Given the description of an element on the screen output the (x, y) to click on. 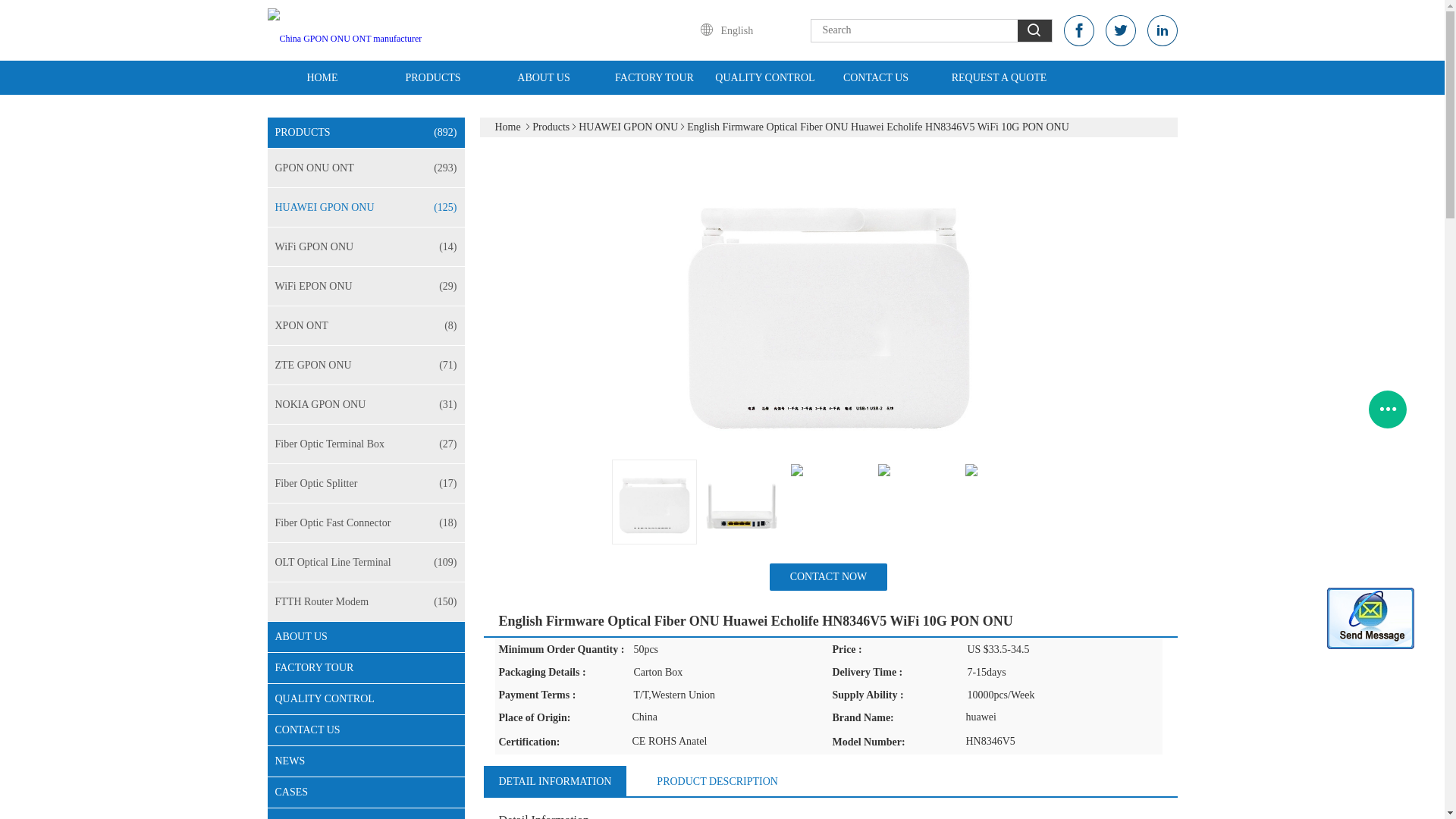
PRODUCTS (432, 77)
China GPON ONU ONT manufacturer (344, 30)
HOME (321, 77)
